Given the description of an element on the screen output the (x, y) to click on. 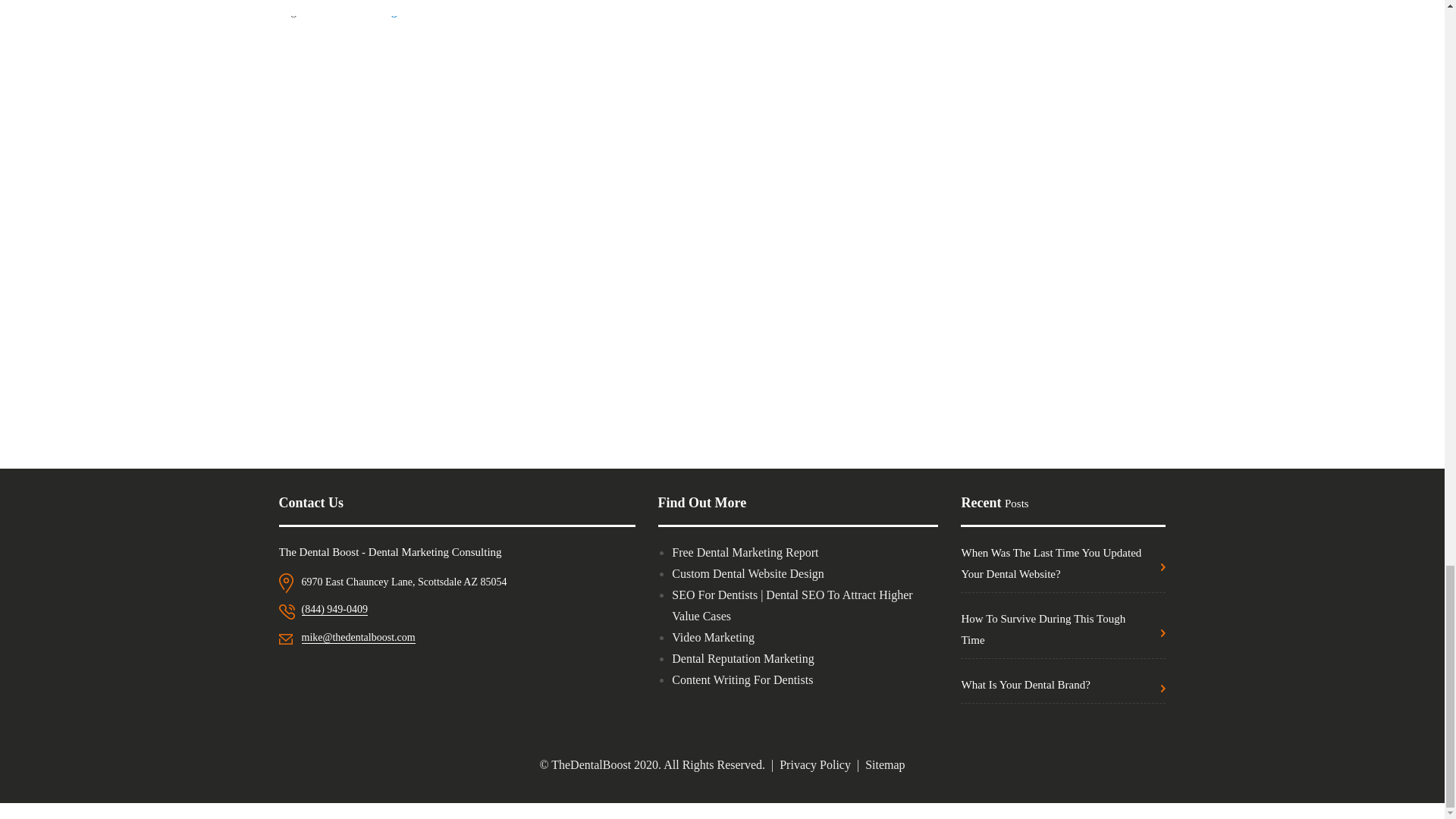
internet marketing for dentists (380, 10)
Video Marketing (712, 636)
Custom Dental Website Design (747, 573)
Dental Reputation Marketing (742, 658)
Free Dental Marketing Report (744, 552)
